Given the description of an element on the screen output the (x, y) to click on. 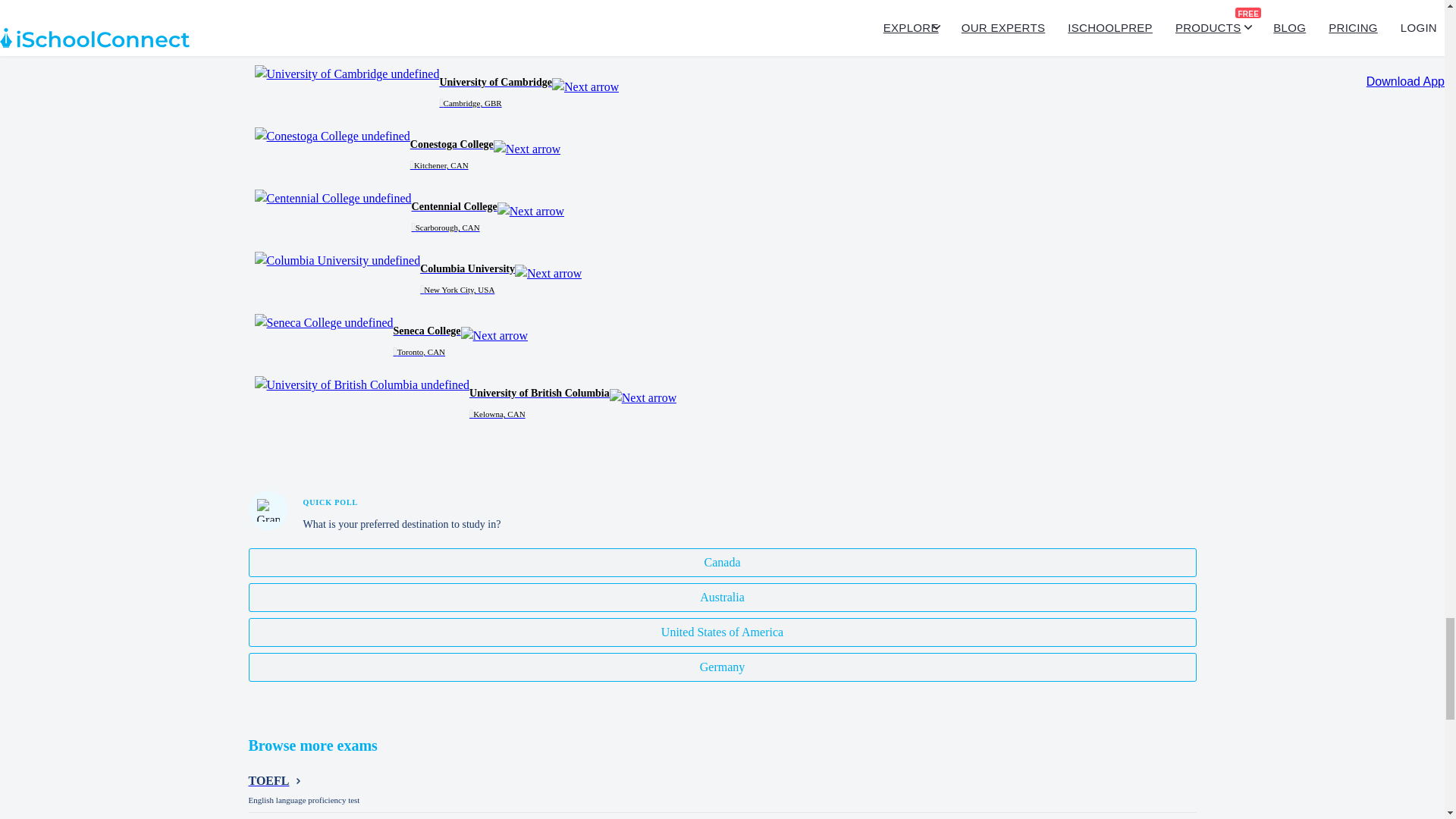
Seneca College (323, 322)
University of Cambridge (346, 74)
Columbia University (337, 260)
University of Toronto (338, 12)
University of British Columbia (362, 384)
Centennial College (333, 198)
Conestoga College (332, 136)
